Given the description of an element on the screen output the (x, y) to click on. 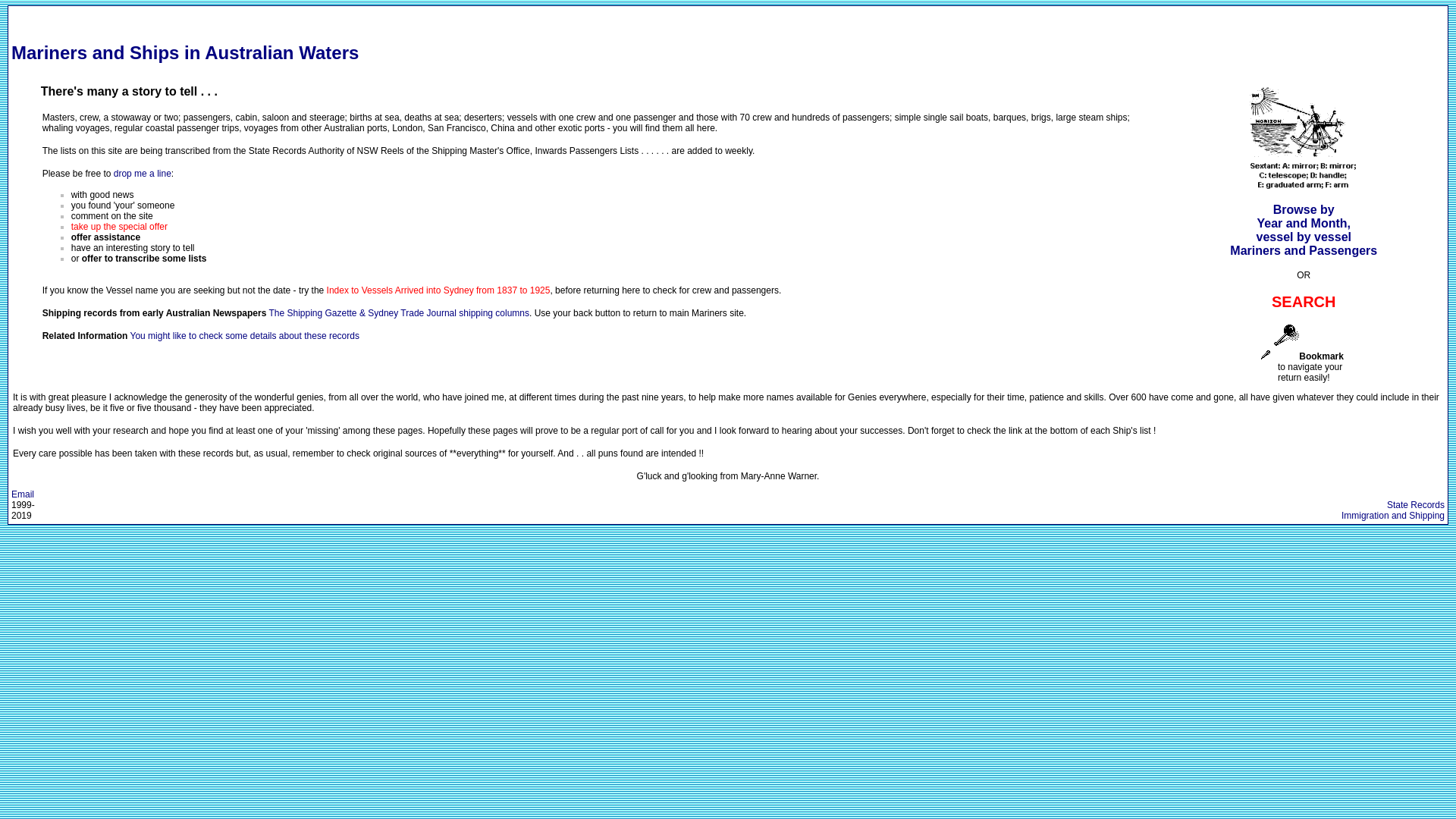
You might like to check some details about these records Element type: text (244, 335)
Index to Vessels Arrived into Sydney from 1837 to 1925 Element type: text (438, 290)
drop me a line Element type: text (142, 173)
SEARCH Element type: text (1303, 301)
State Records
Immigration and Shipping Element type: text (1392, 509)
Mariners and Passengers Element type: text (1303, 250)
Email Element type: text (22, 494)
take up the special offer Element type: text (119, 226)
vessel by vessel Element type: text (1303, 236)
The Shipping Gazette & Sydney Trade Journal shipping columns Element type: text (398, 312)
Year and Month, Element type: text (1303, 222)
Browse by Element type: text (1303, 209)
